Given the description of an element on the screen output the (x, y) to click on. 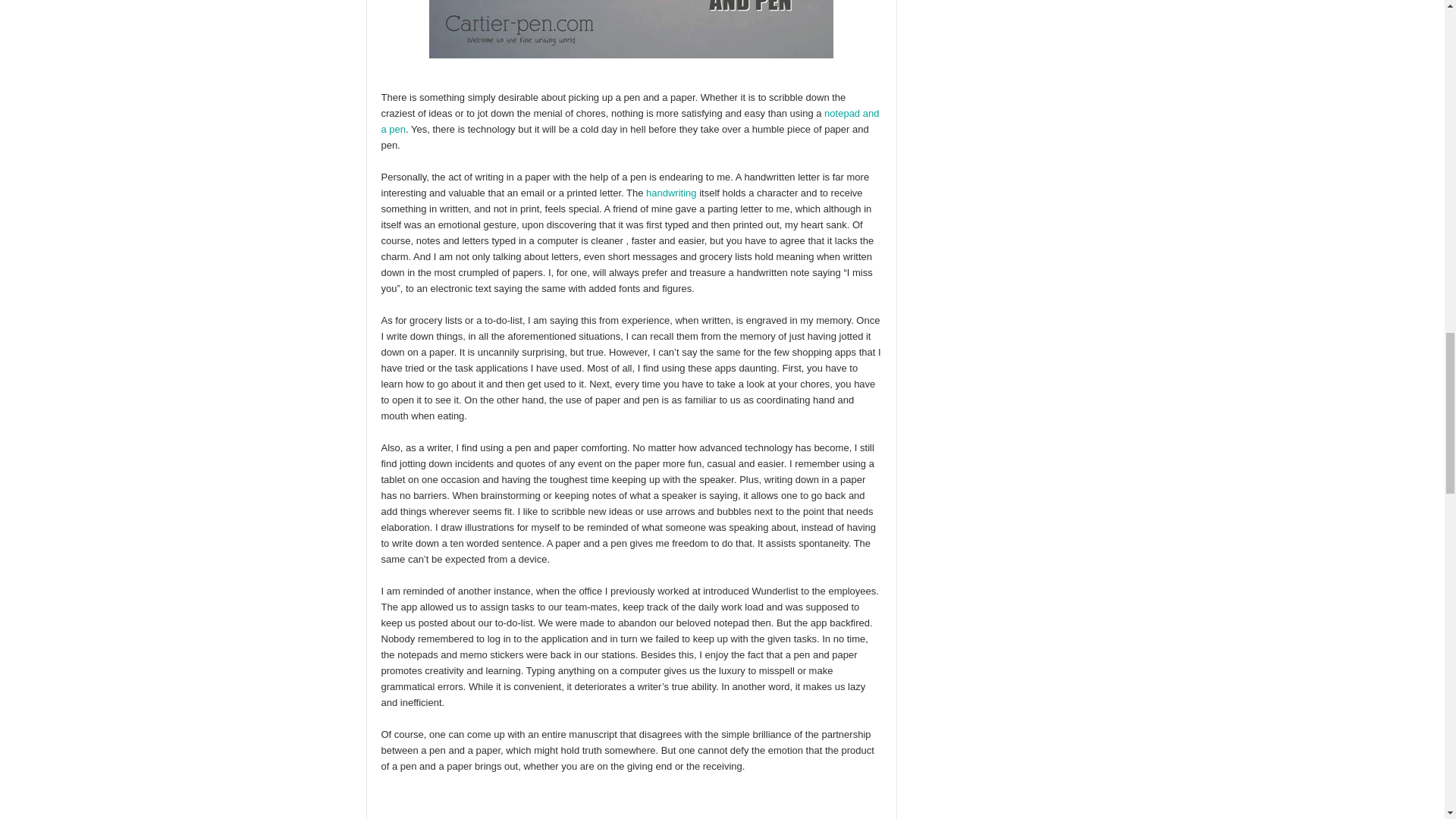
notepad and a pen (629, 121)
handwriting (672, 193)
